Given the description of an element on the screen output the (x, y) to click on. 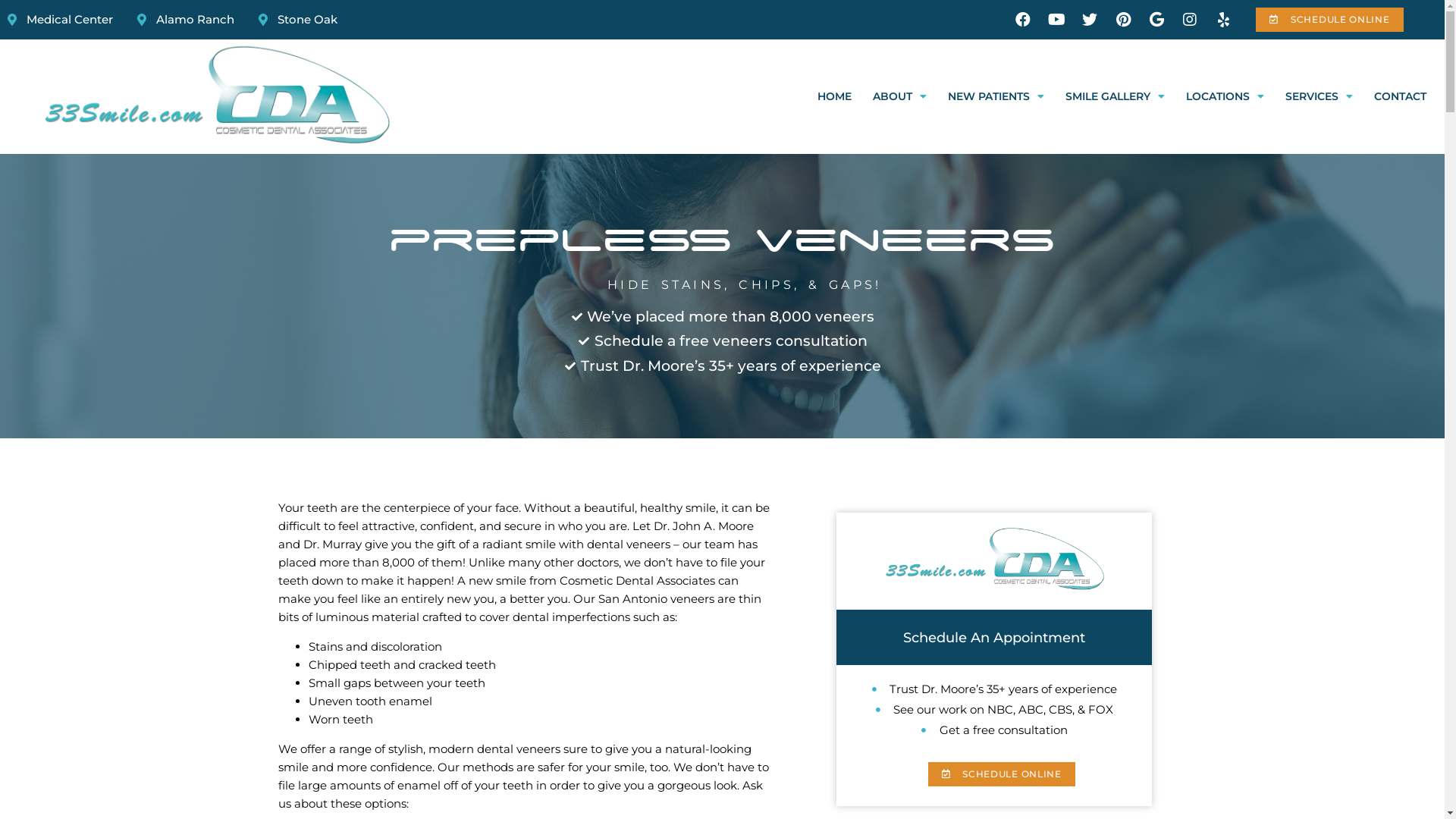
Stone Oak Element type: text (297, 19)
SCHEDULE ONLINE Element type: text (1001, 774)
Medical Center Element type: text (59, 19)
CONTACT Element type: text (1400, 96)
ABOUT Element type: text (899, 96)
SMILE GALLERY Element type: text (1114, 96)
LOCATIONS Element type: text (1224, 96)
Alamo Ranch Element type: text (185, 19)
SERVICES Element type: text (1318, 96)
SCHEDULE ONLINE Element type: text (1328, 19)
HOME Element type: text (834, 96)
NEW PATIENTS Element type: text (995, 96)
